Given the description of an element on the screen output the (x, y) to click on. 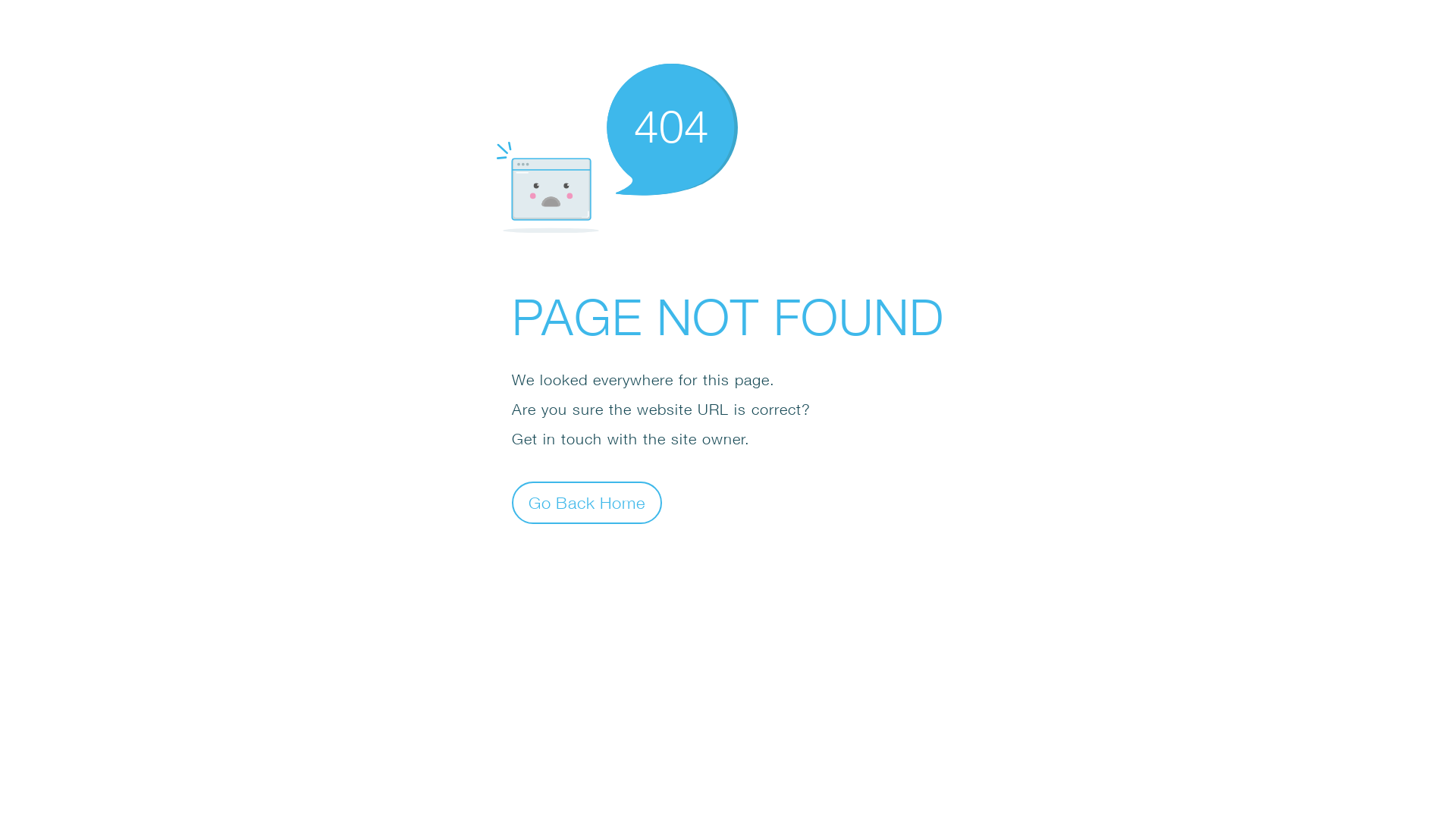
Go Back Home Element type: text (586, 502)
